Given the description of an element on the screen output the (x, y) to click on. 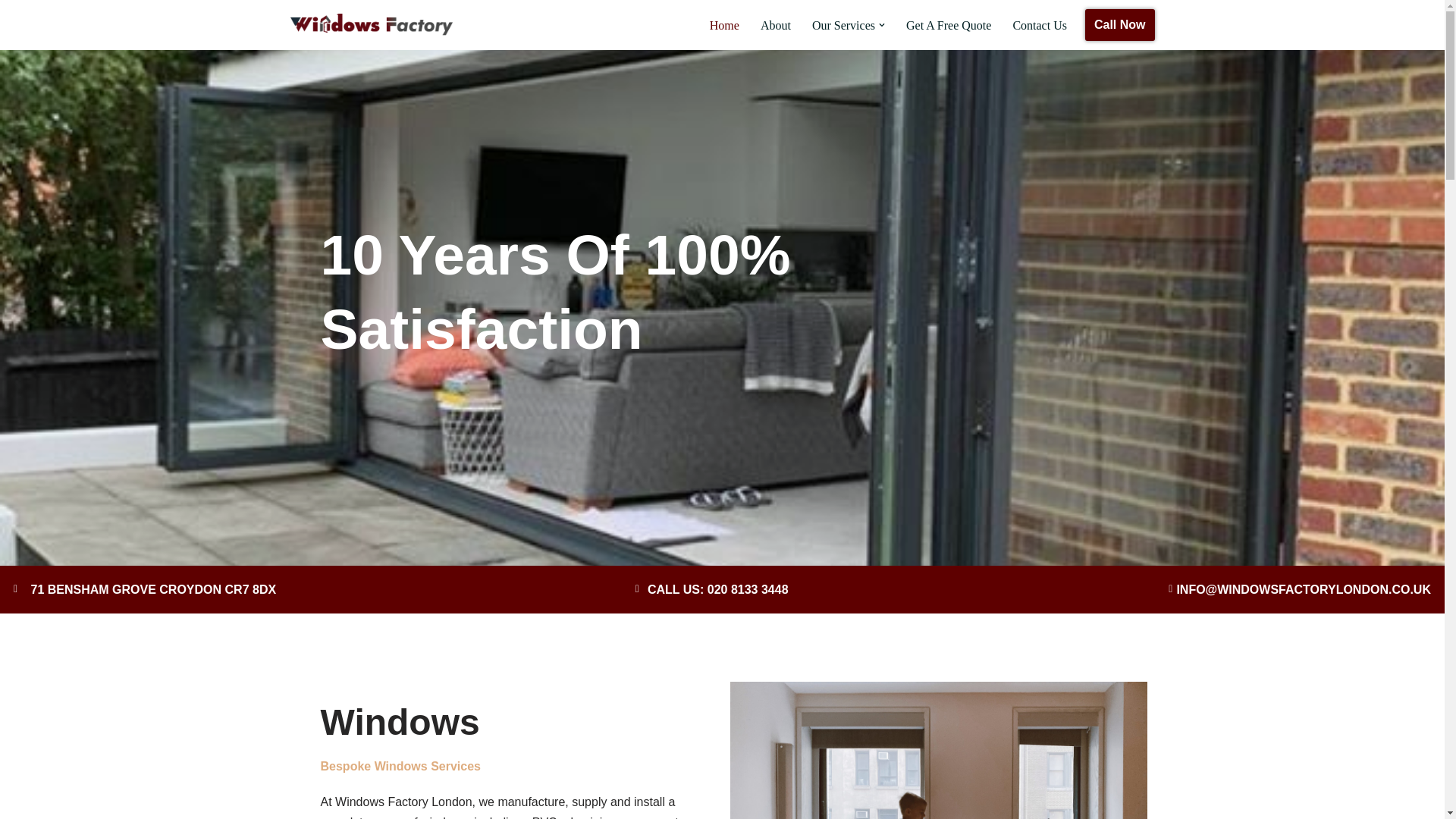
Call Now (1119, 24)
Home (724, 25)
Contact Us (1039, 25)
71 BENSHAM GROVE CROYDON CR7 8DX (244, 589)
Get A Free Quote (948, 25)
Skip to content (11, 31)
Our Services (843, 25)
About (775, 25)
